Given the description of an element on the screen output the (x, y) to click on. 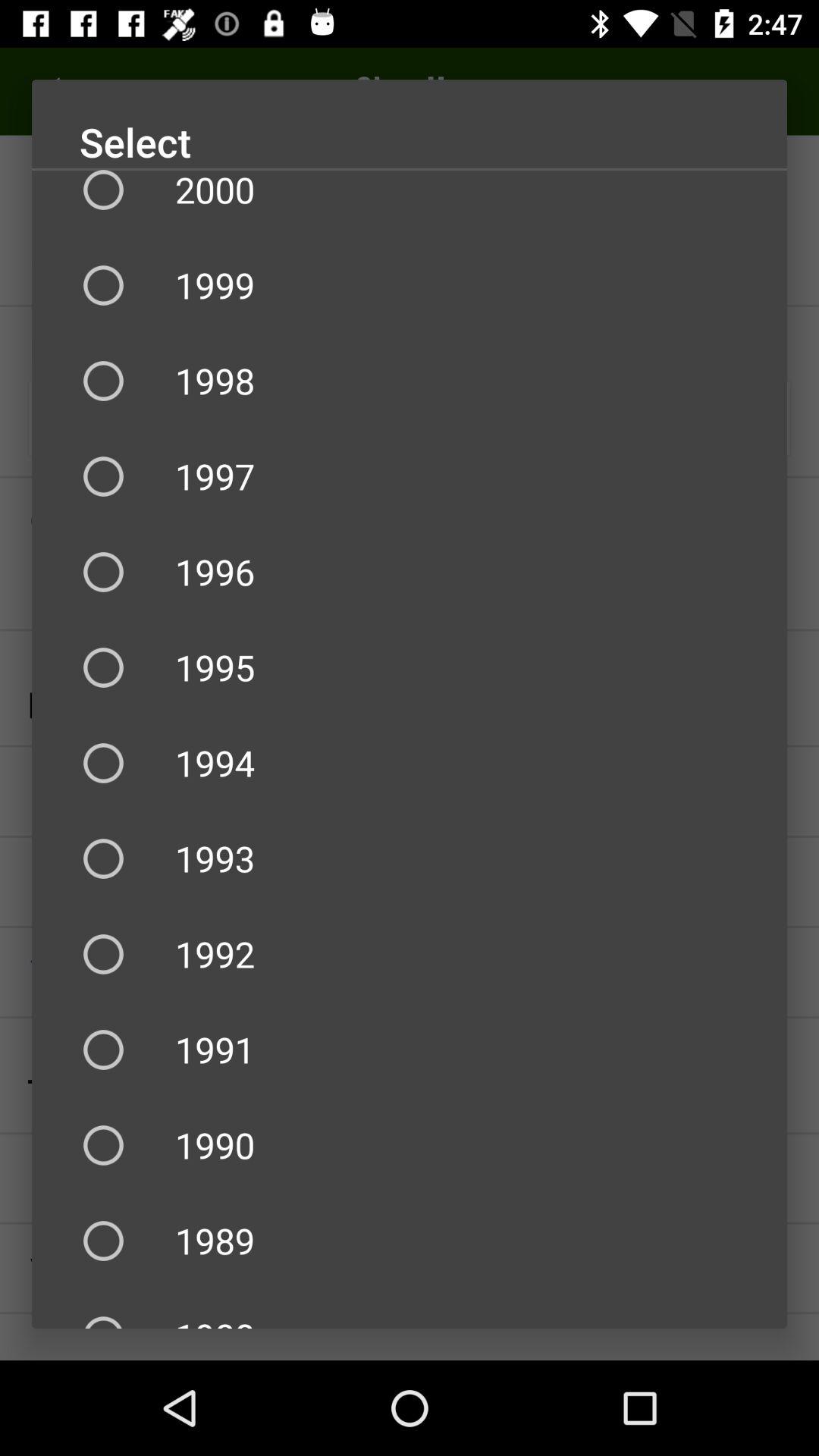
flip until 1995 (409, 667)
